Given the description of an element on the screen output the (x, y) to click on. 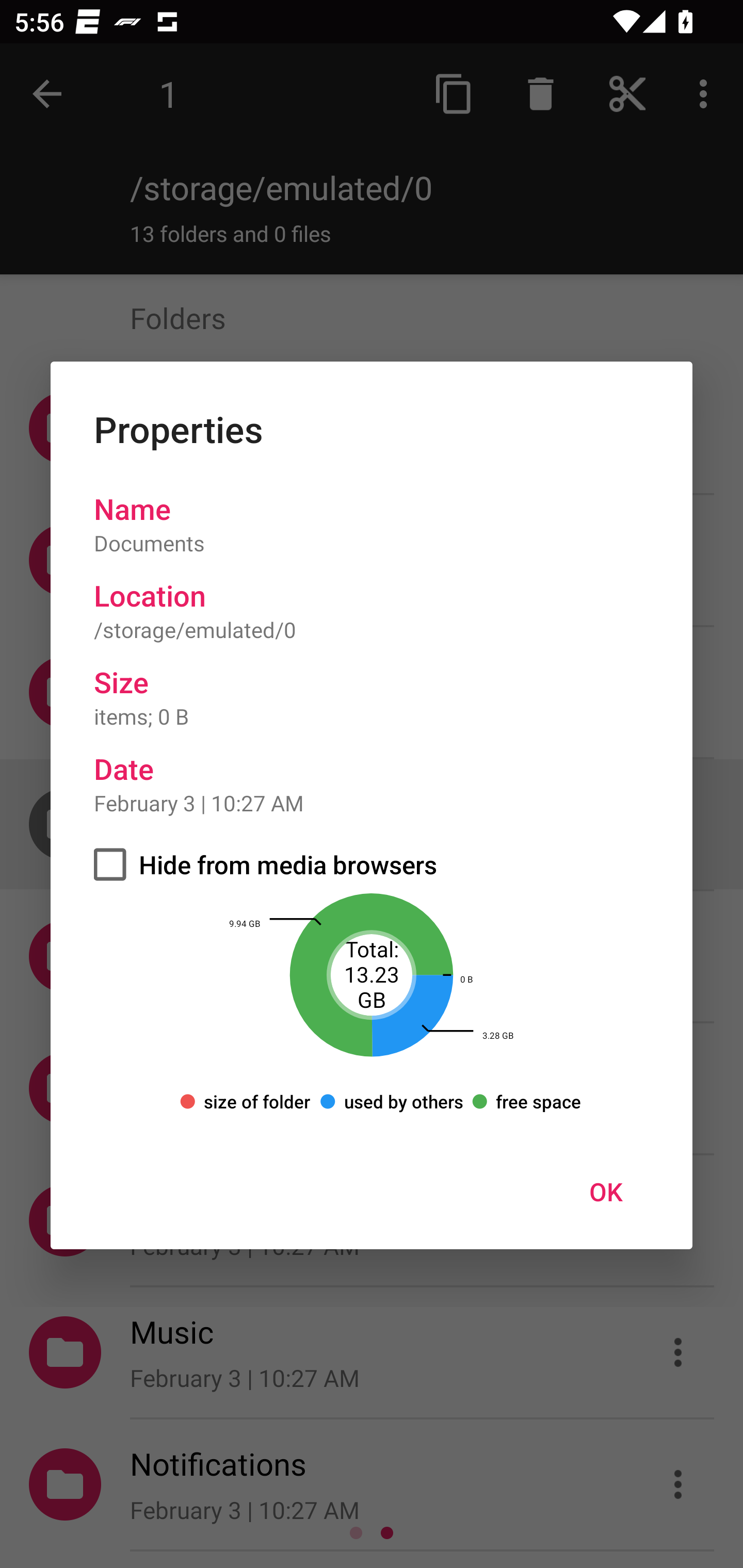
Hide from media browsers (371, 864)
OK (605, 1191)
